Given the description of an element on the screen output the (x, y) to click on. 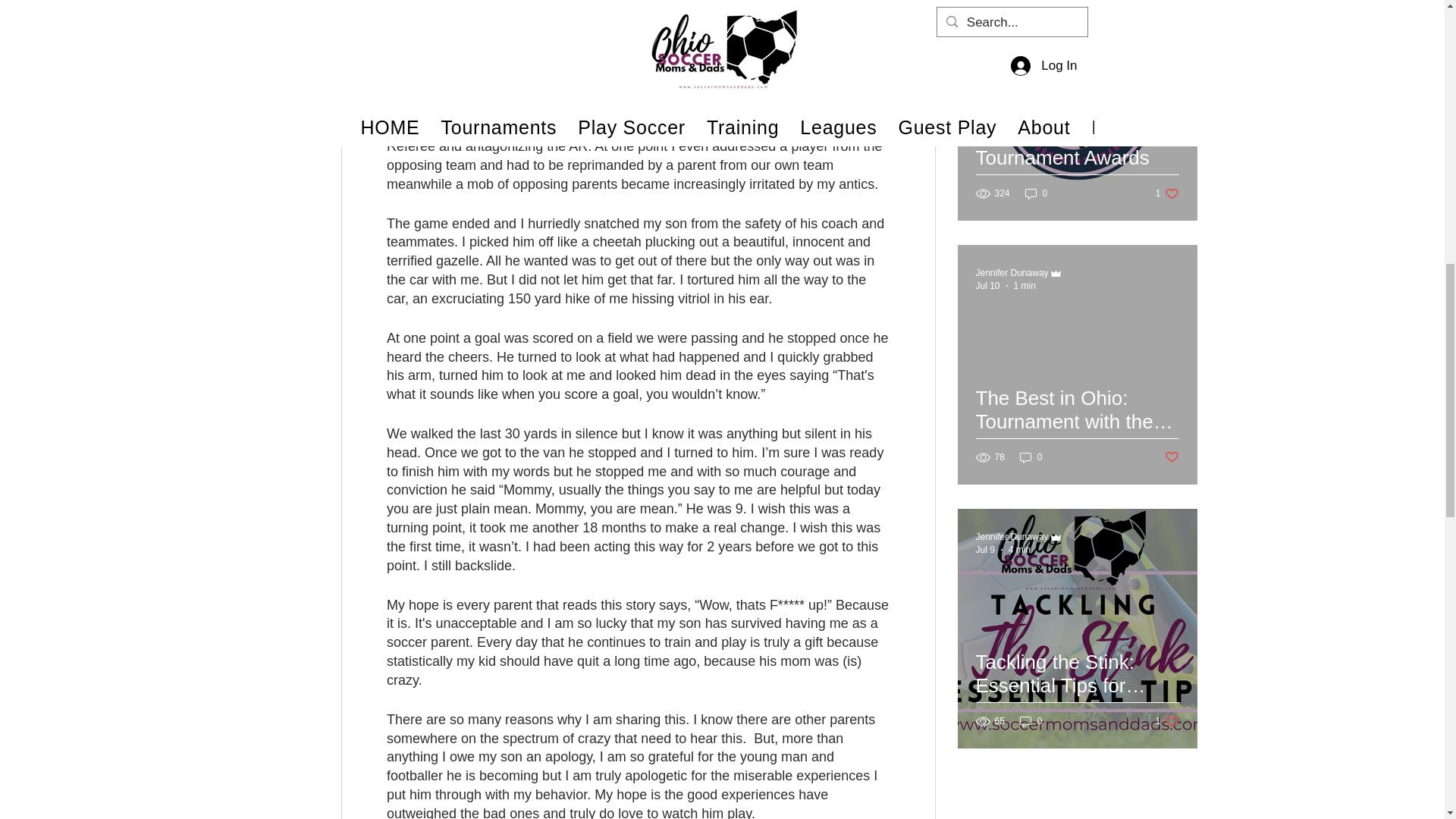
Jennifer Dunaway (1011, 9)
Jul 13 (986, 21)
Jul 9 (984, 549)
Jennifer Dunaway (1011, 536)
Jul 10 (986, 285)
1 min (1024, 285)
1 min (1024, 21)
Jennifer Dunaway (1011, 272)
4 min (1019, 549)
